Given the description of an element on the screen output the (x, y) to click on. 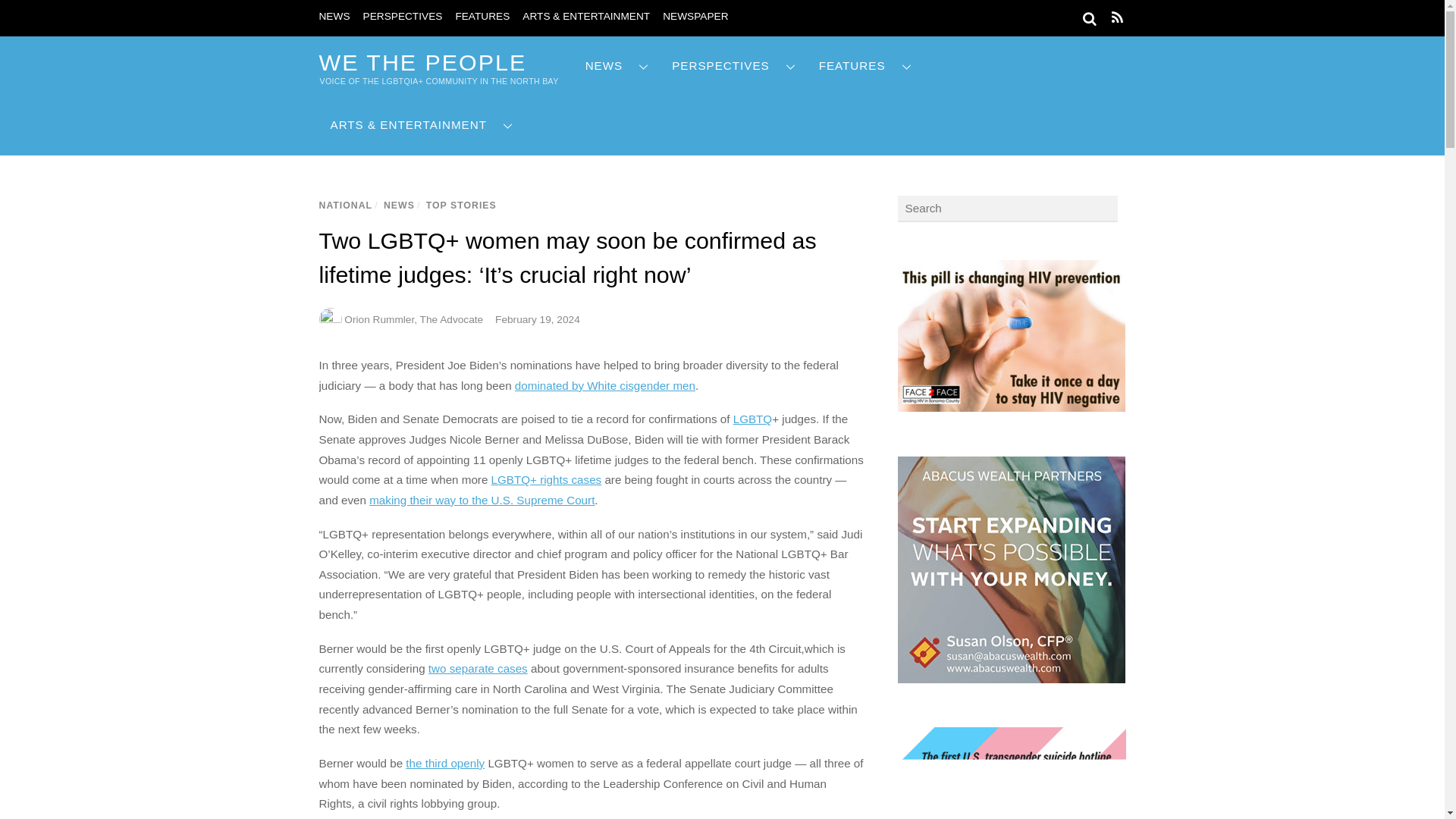
NEWS (333, 16)
We The People (421, 62)
WE THE PEOPLE (421, 62)
NEWSPAPER (695, 16)
FEATURES (481, 16)
NEWS (617, 66)
PERSPECTIVES (402, 16)
